Given the description of an element on the screen output the (x, y) to click on. 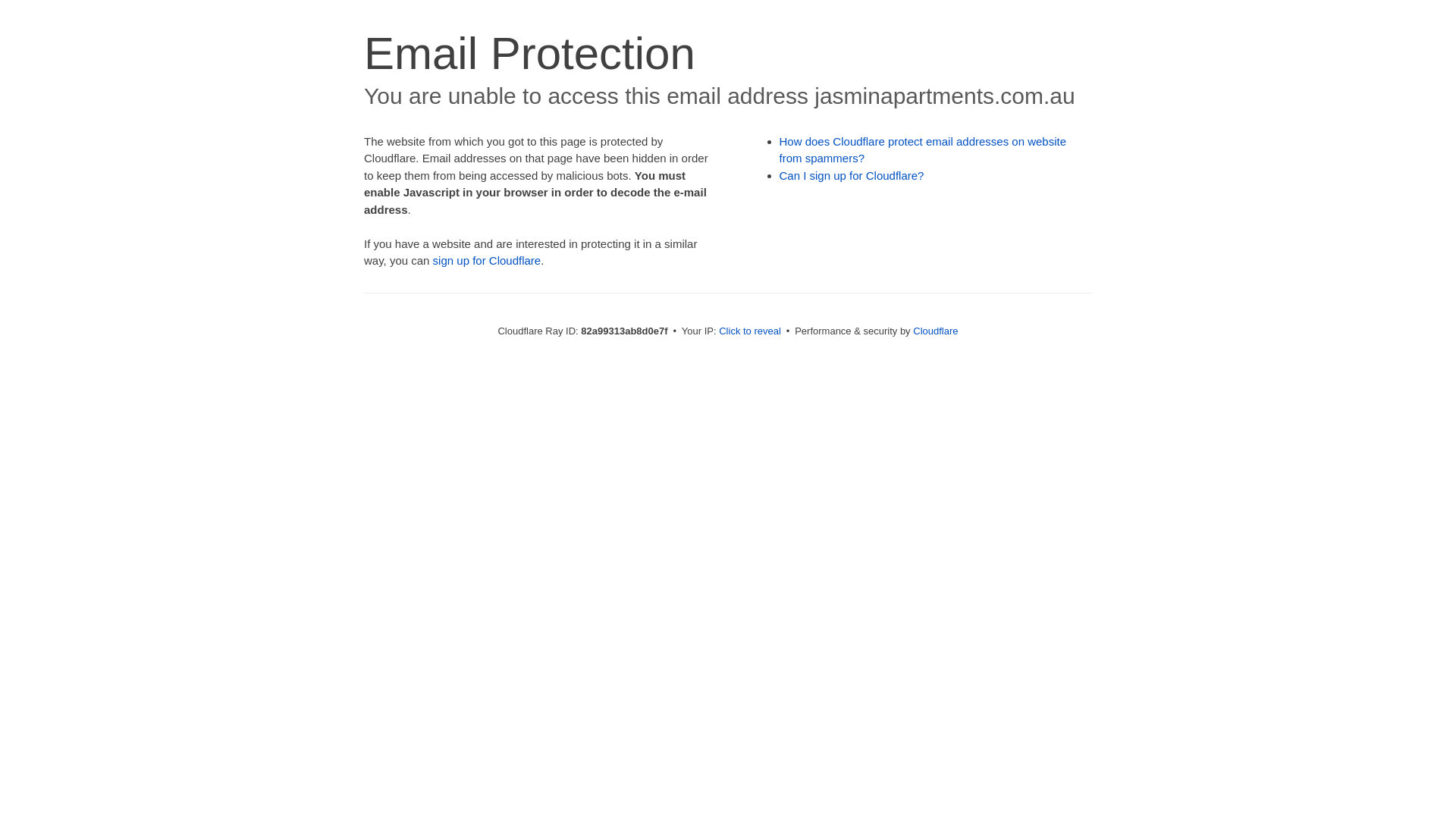
Can I sign up for Cloudflare? Element type: text (851, 175)
Click to reveal Element type: text (749, 330)
Cloudflare Element type: text (935, 330)
sign up for Cloudflare Element type: text (487, 260)
